Given the description of an element on the screen output the (x, y) to click on. 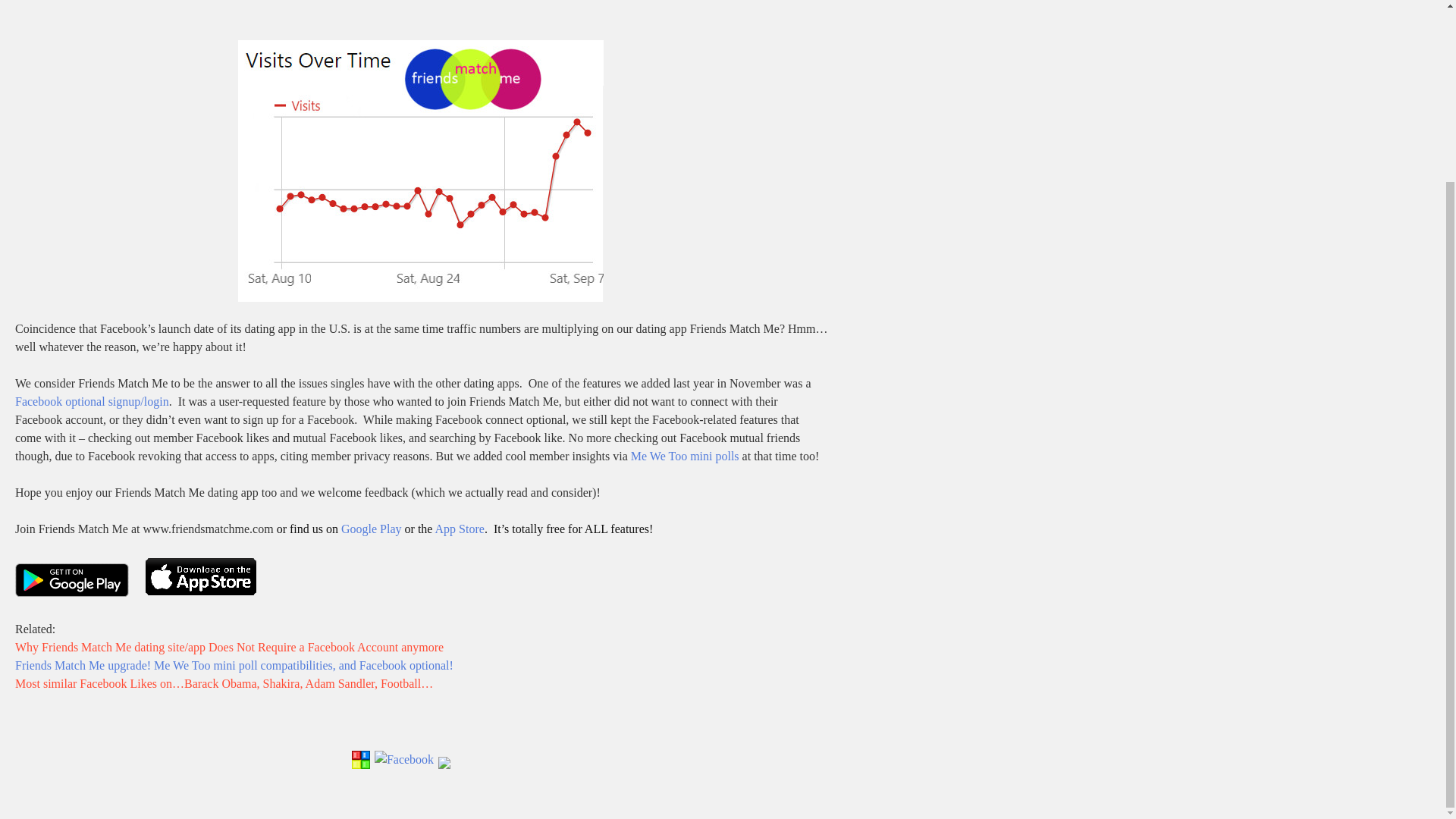
Facebook (403, 765)
Article Global (360, 765)
App Store (459, 528)
Me We Too mini polls (684, 455)
www.friendsmatchme.com (207, 528)
Facebook (403, 760)
Article Global (360, 760)
Google Play (370, 528)
